Given the description of an element on the screen output the (x, y) to click on. 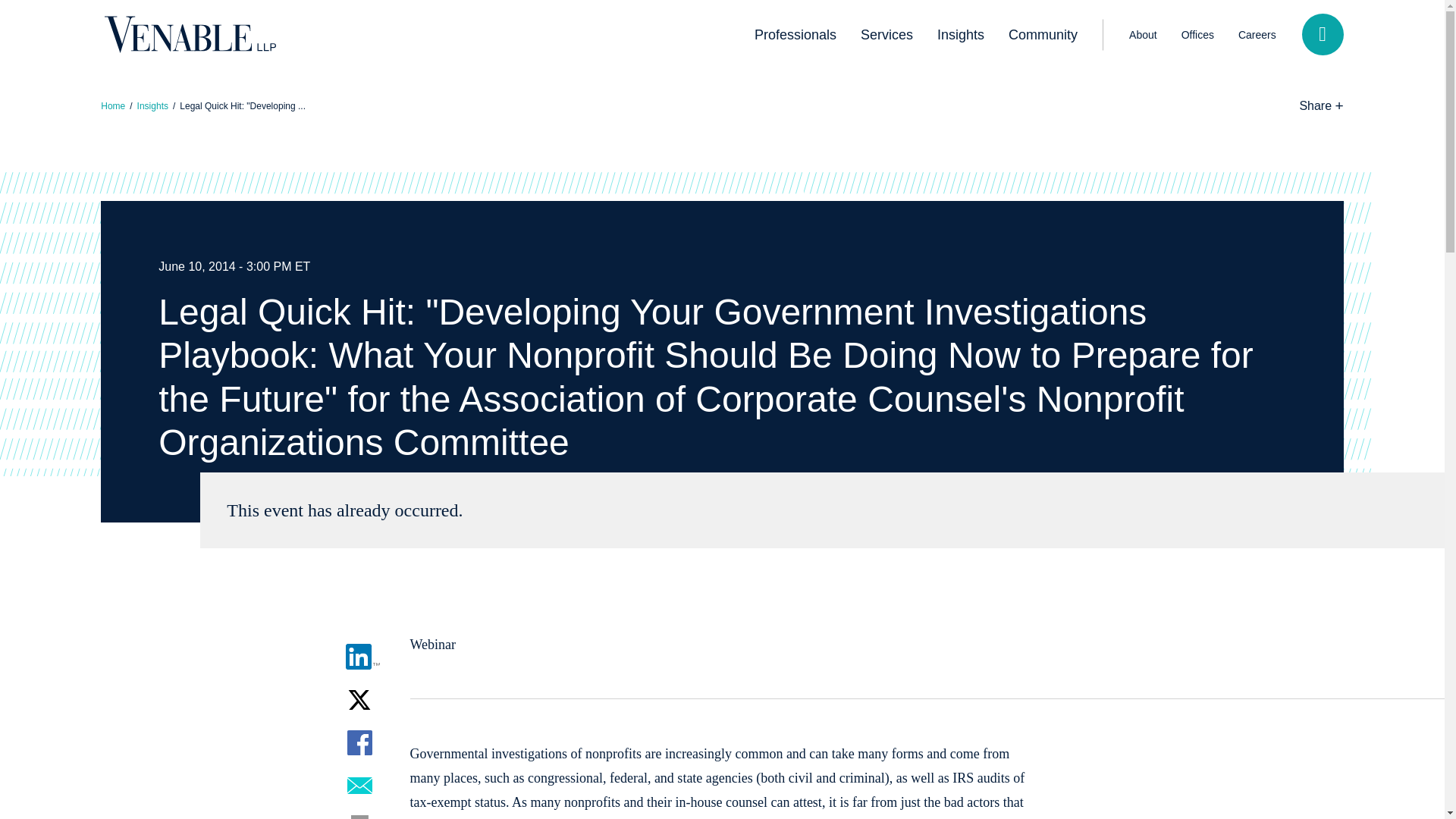
Insights (152, 105)
Home (112, 105)
Insights (959, 34)
Careers (1256, 34)
Offices (1197, 34)
About (1142, 34)
Services (886, 34)
Professionals (795, 34)
Community (1042, 34)
